Given the description of an element on the screen output the (x, y) to click on. 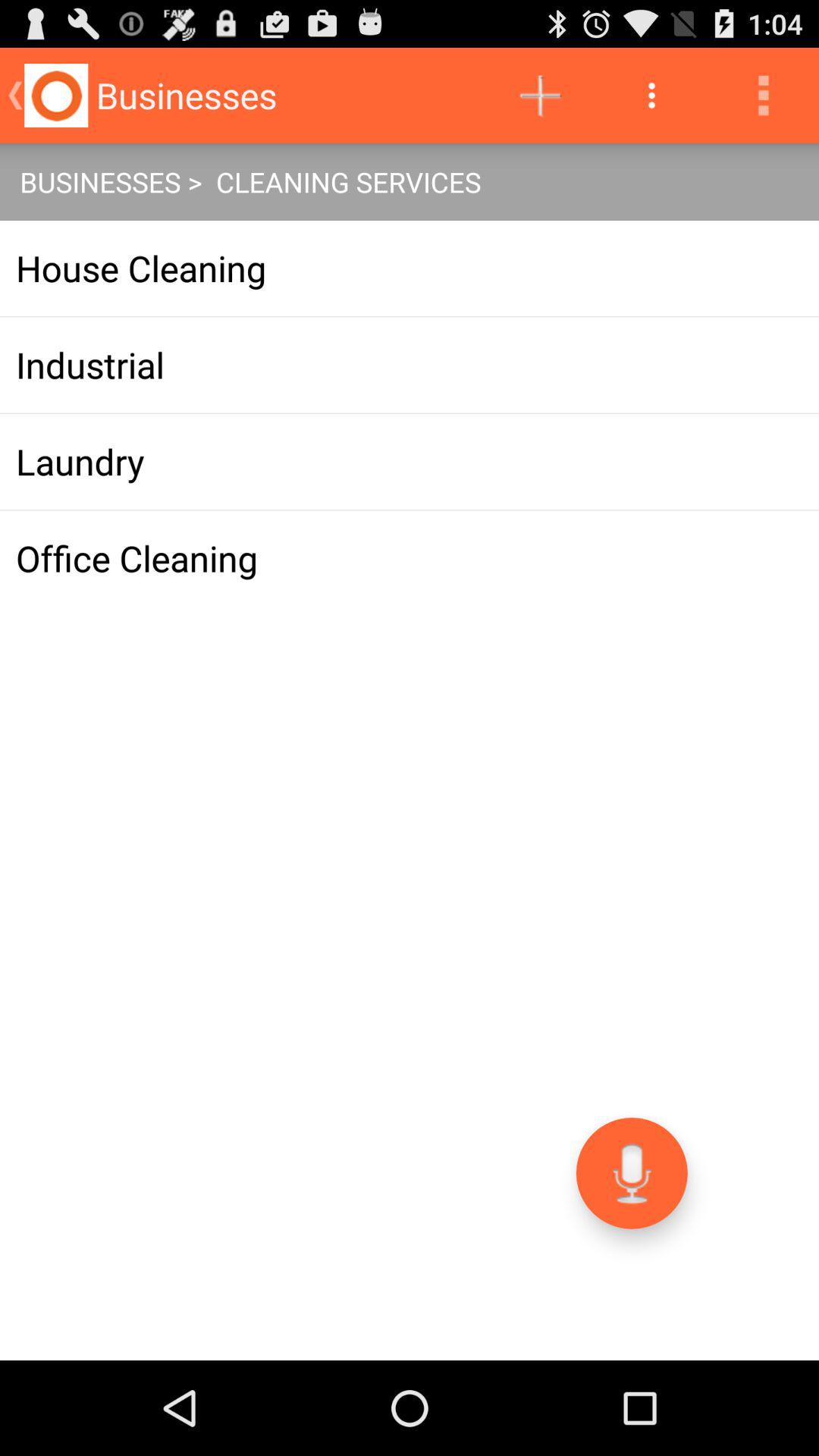
launch app above the industrial icon (409, 268)
